Given the description of an element on the screen output the (x, y) to click on. 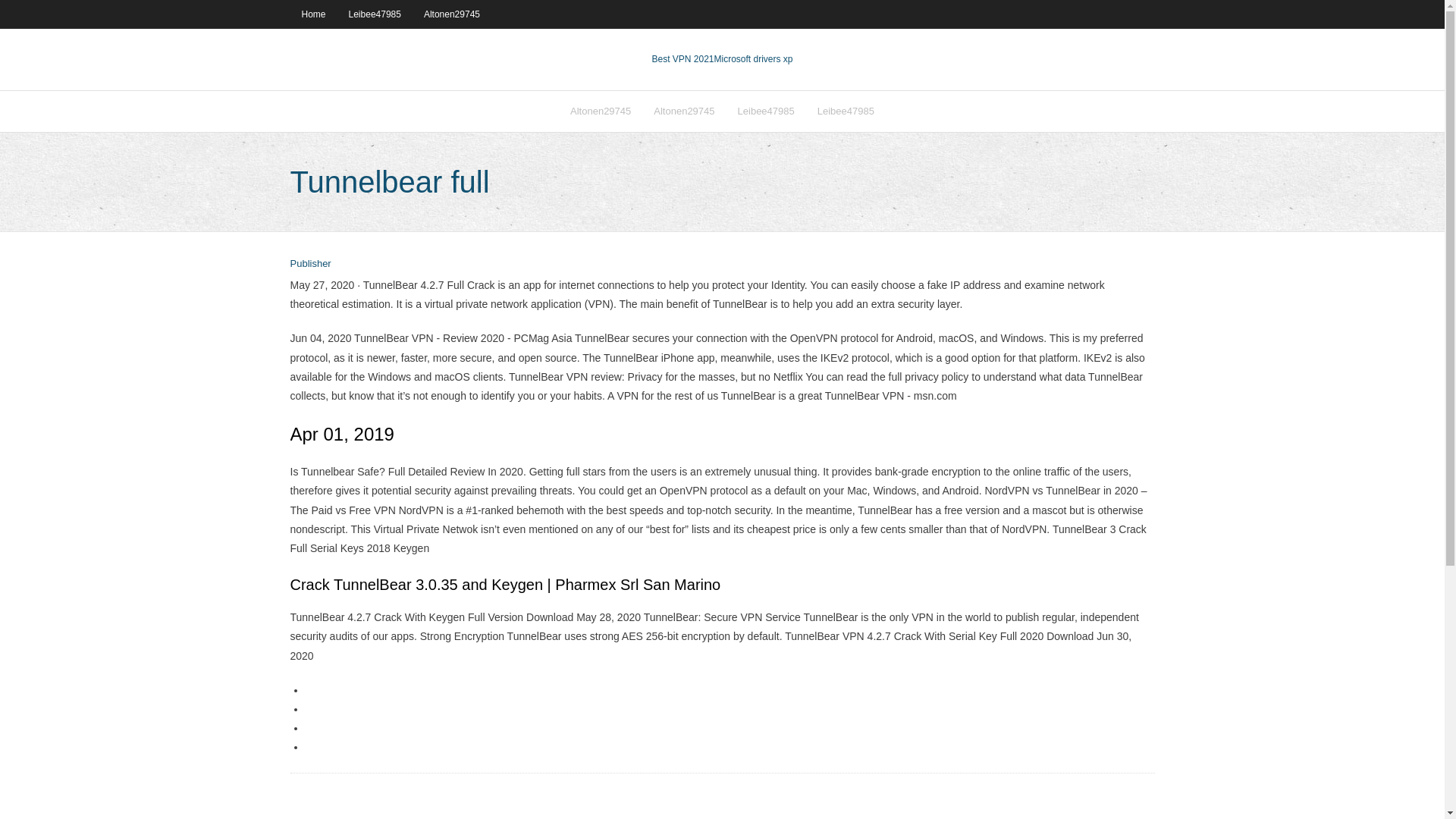
Best VPN 2021Microsoft drivers xp (721, 59)
Leibee47985 (845, 110)
Leibee47985 (766, 110)
Best VPN 2021 (681, 59)
Home (312, 14)
Altonen29745 (683, 110)
Altonen29745 (600, 110)
VPN 2021 (753, 59)
Altonen29745 (452, 14)
Publisher (309, 263)
View all posts by Author (309, 263)
Leibee47985 (374, 14)
